Given the description of an element on the screen output the (x, y) to click on. 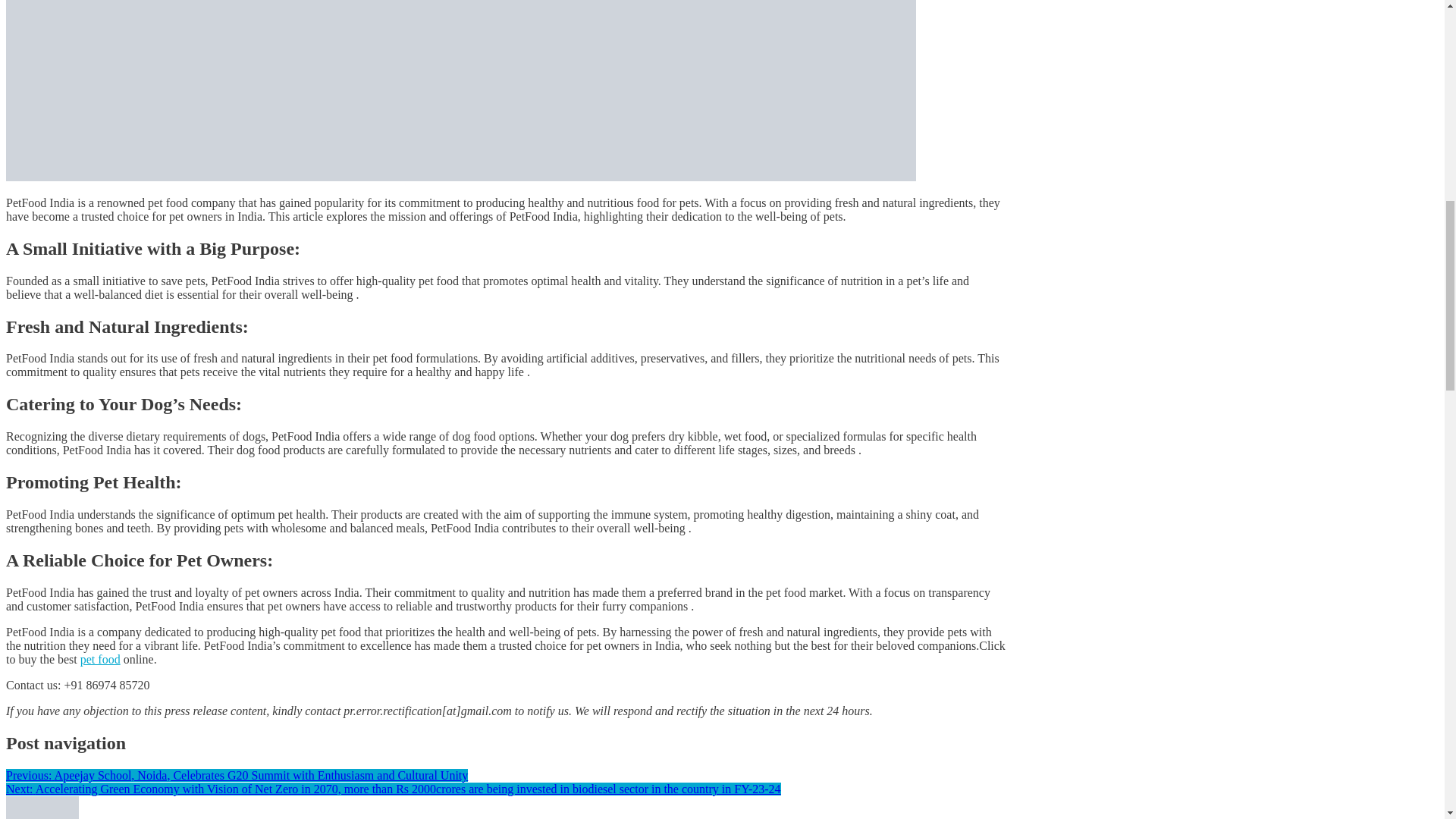
pet food (100, 658)
